Given the description of an element on the screen output the (x, y) to click on. 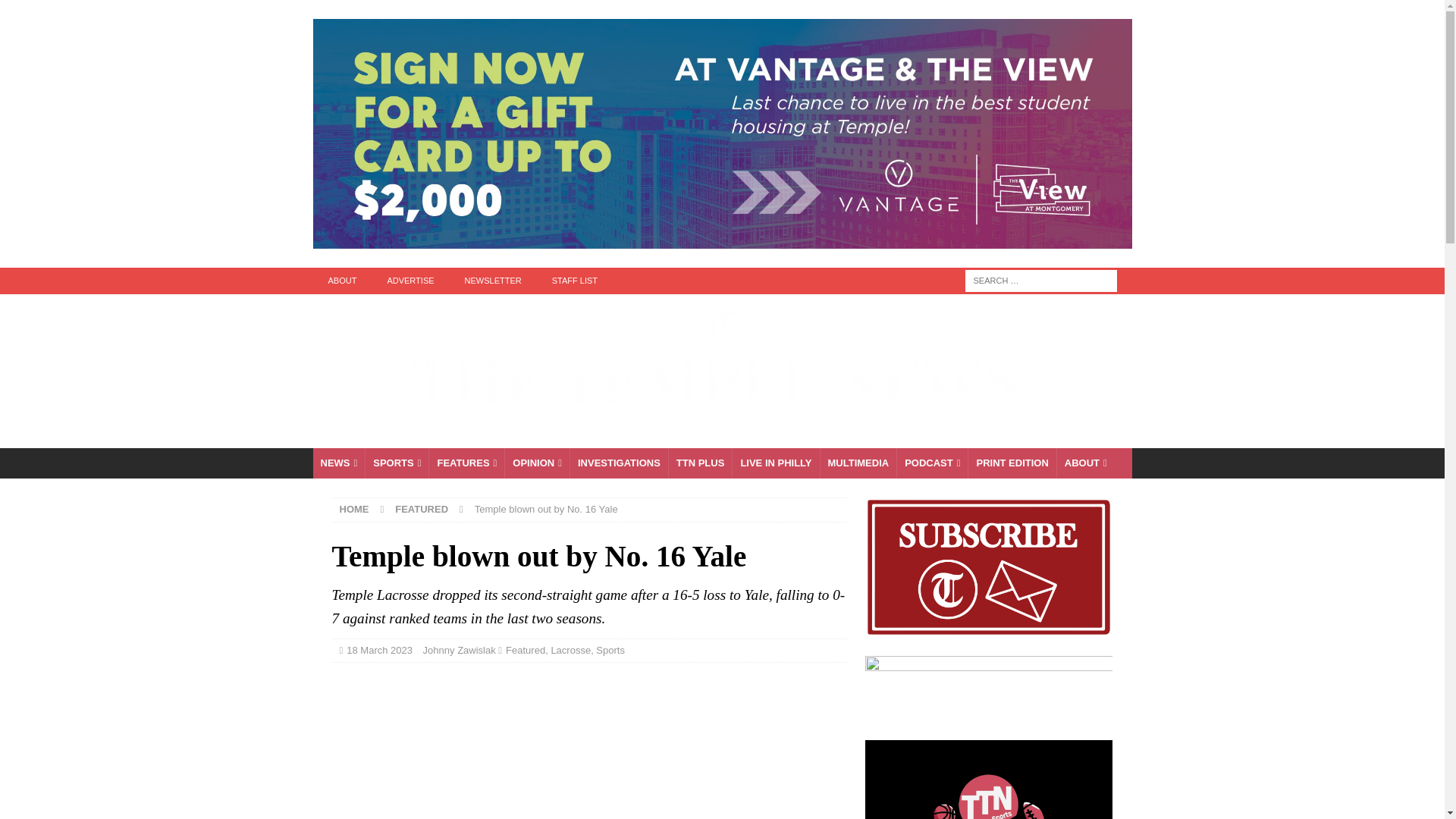
FEATURES (465, 463)
NEWS (339, 463)
Posts by Johnny Zawislak (459, 650)
ADVERTISE (409, 280)
Search (56, 11)
NEWSLETTER (493, 280)
2.25.sports.LAX.JoshuaCrellin (588, 748)
ABOUT (342, 280)
STAFF LIST (574, 280)
Longform (700, 463)
SPORTS (396, 463)
